Given the description of an element on the screen output the (x, y) to click on. 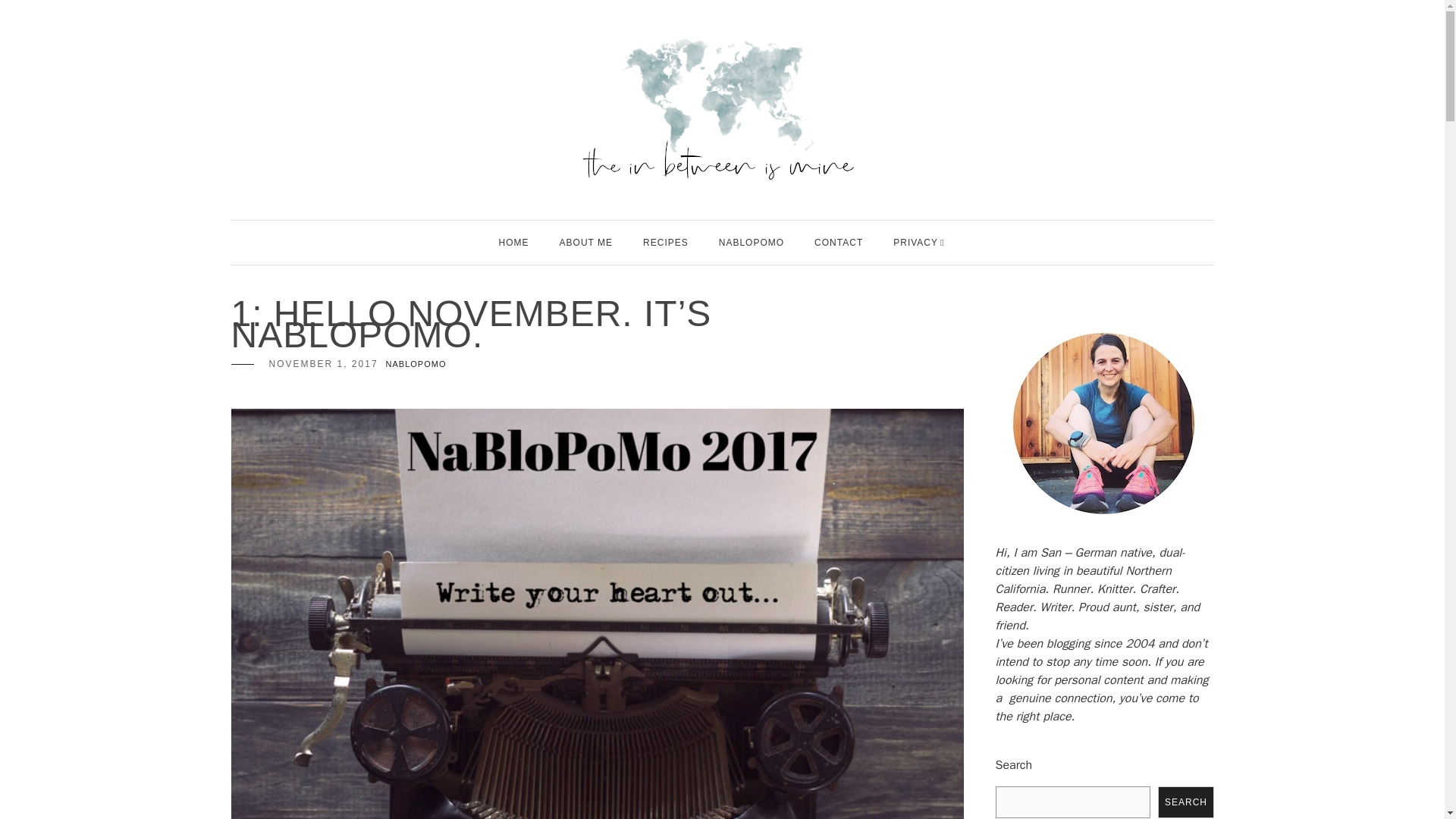
ABOUT ME (585, 242)
RECIPES (665, 242)
PRIVACY (915, 242)
NABLOPOMO (415, 363)
CONTACT (838, 242)
NABLOPOMO (751, 242)
